Given the description of an element on the screen output the (x, y) to click on. 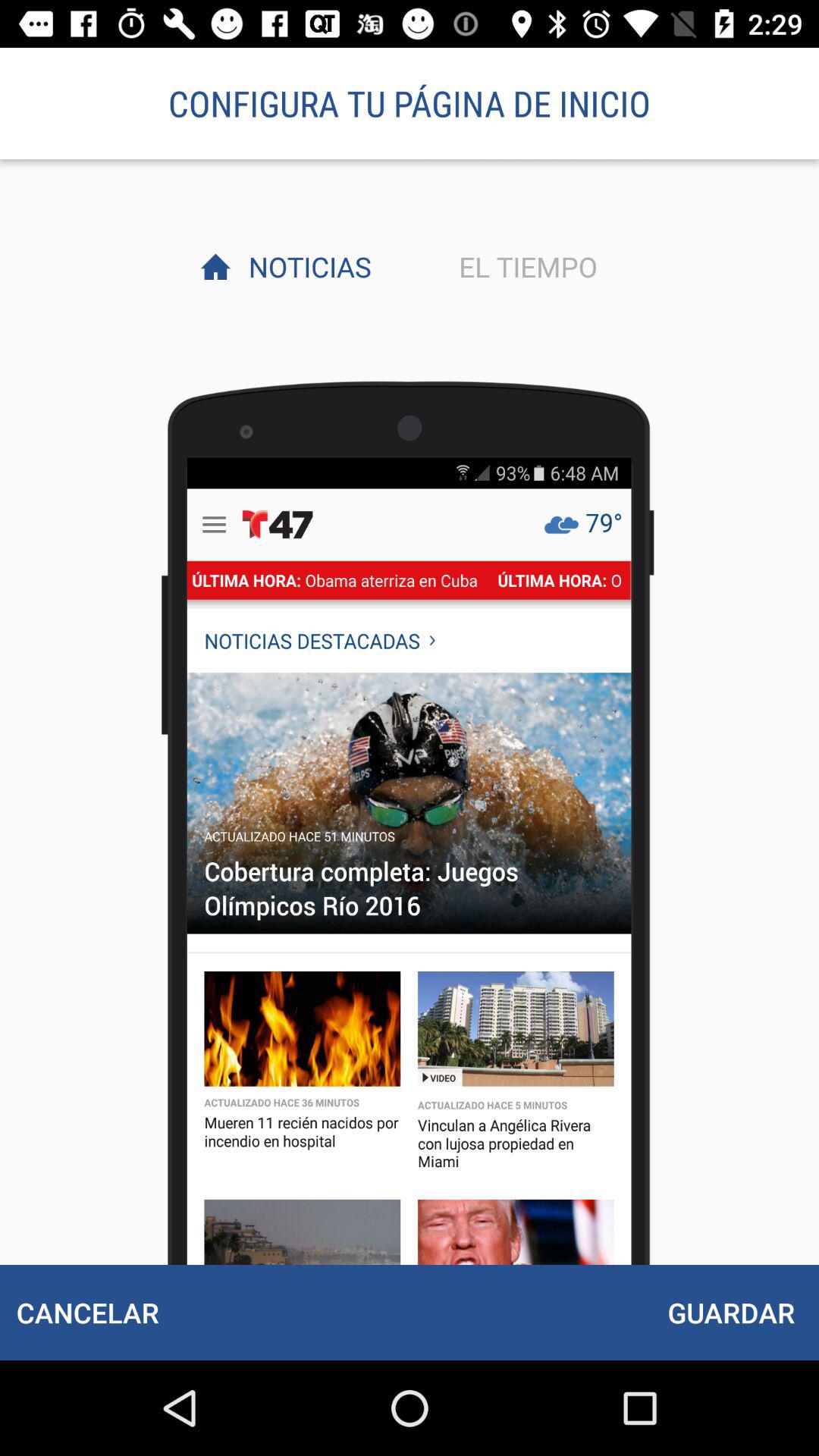
open the item next to noticias item (524, 266)
